Given the description of an element on the screen output the (x, y) to click on. 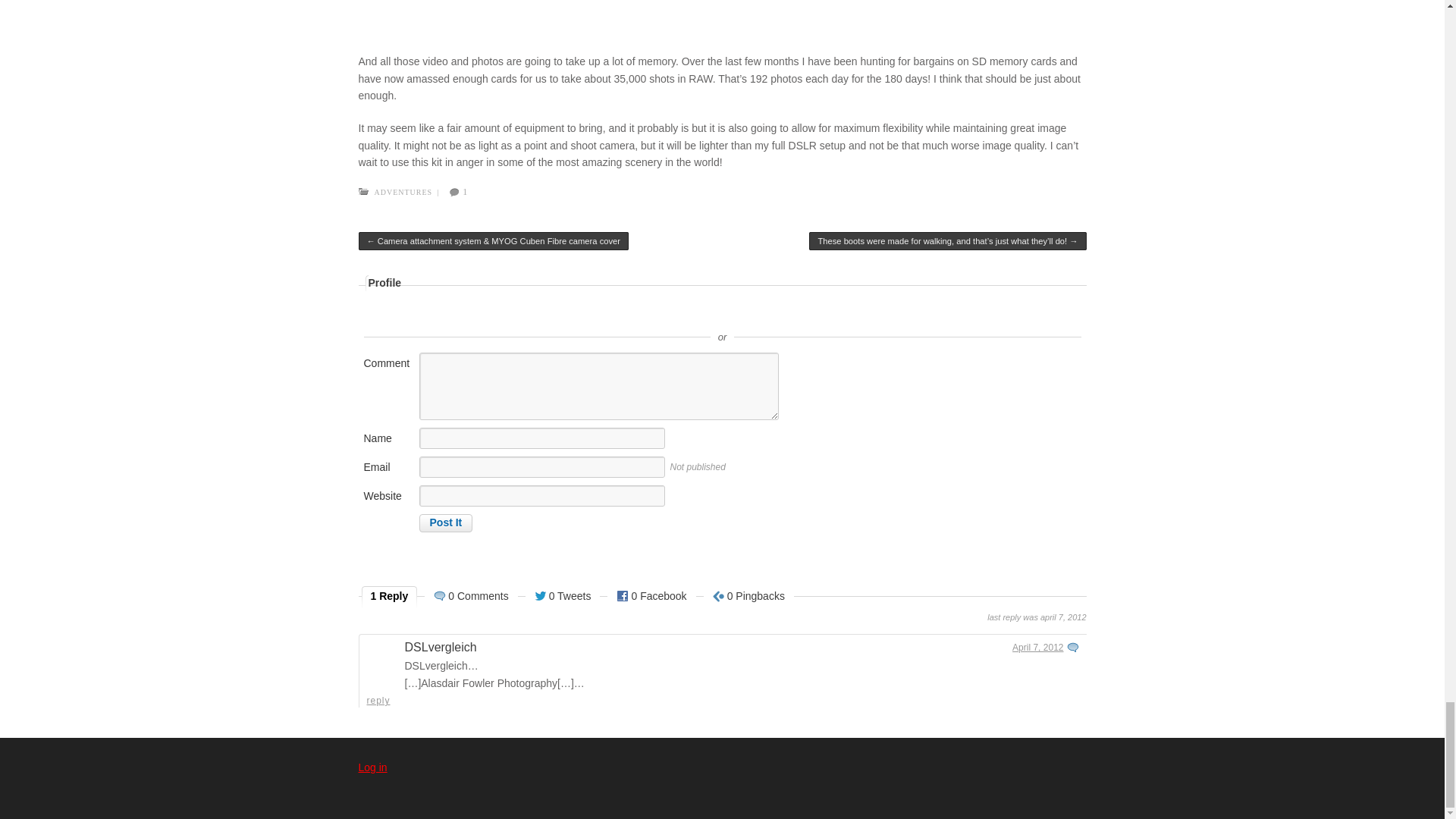
1 (455, 192)
Sign in with Twitter (653, 314)
0 Facebook (651, 597)
0 Comments (470, 597)
DSLvergleich (440, 646)
Post It (445, 523)
1 Reply (390, 597)
April 7, 2012 (1036, 647)
Post It (445, 523)
Log in (372, 767)
